Given the description of an element on the screen output the (x, y) to click on. 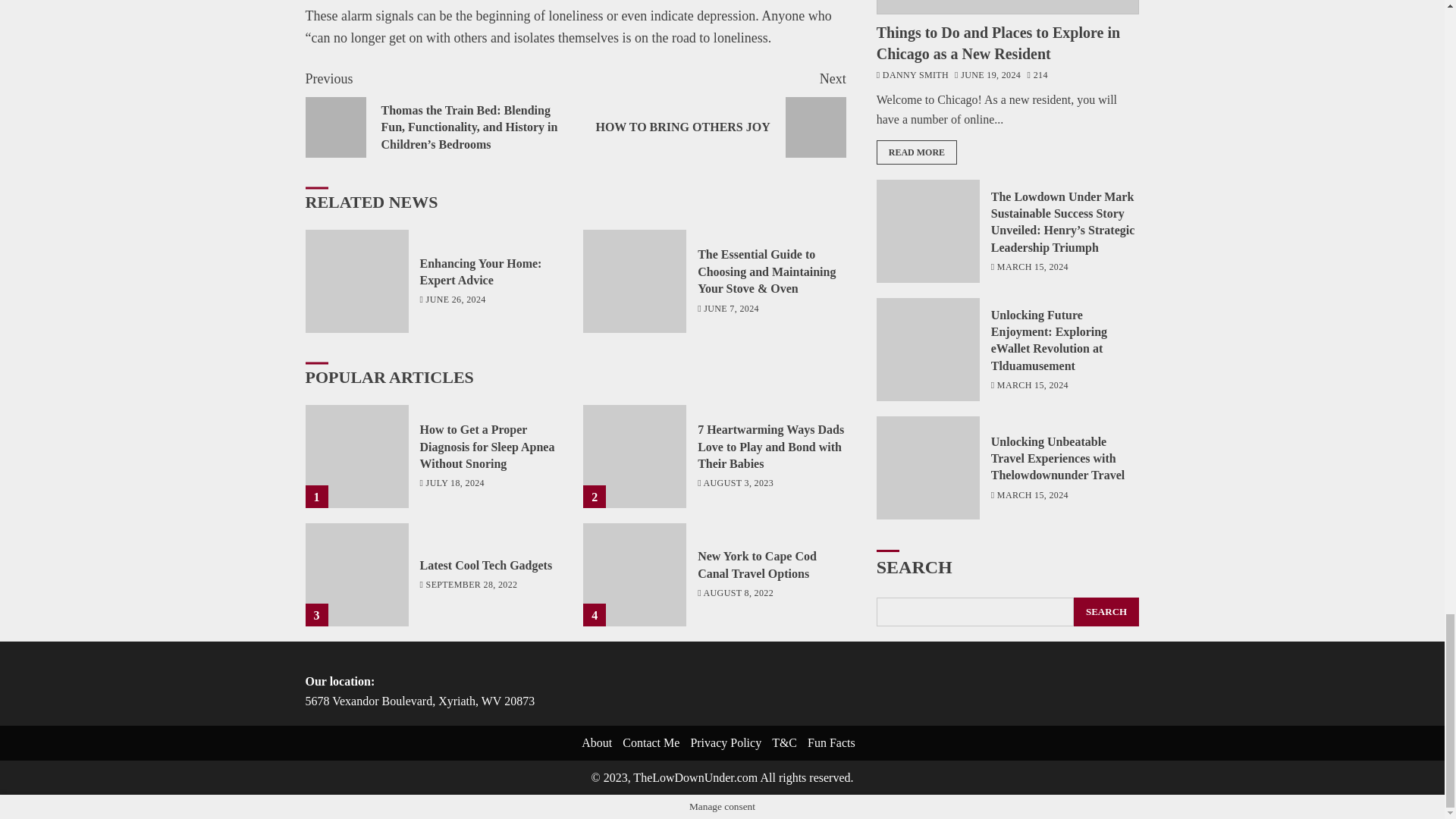
Enhancing Your Home: Expert Advice (480, 272)
New York to Cape Cod Canal Travel Options (634, 574)
Latest Cool Tech Gadgets (355, 574)
Latest Cool Tech Gadgets (710, 112)
Enhancing Your Home: Expert Advice (486, 565)
New York to Cape Cod Canal Travel Options (355, 281)
